Given the description of an element on the screen output the (x, y) to click on. 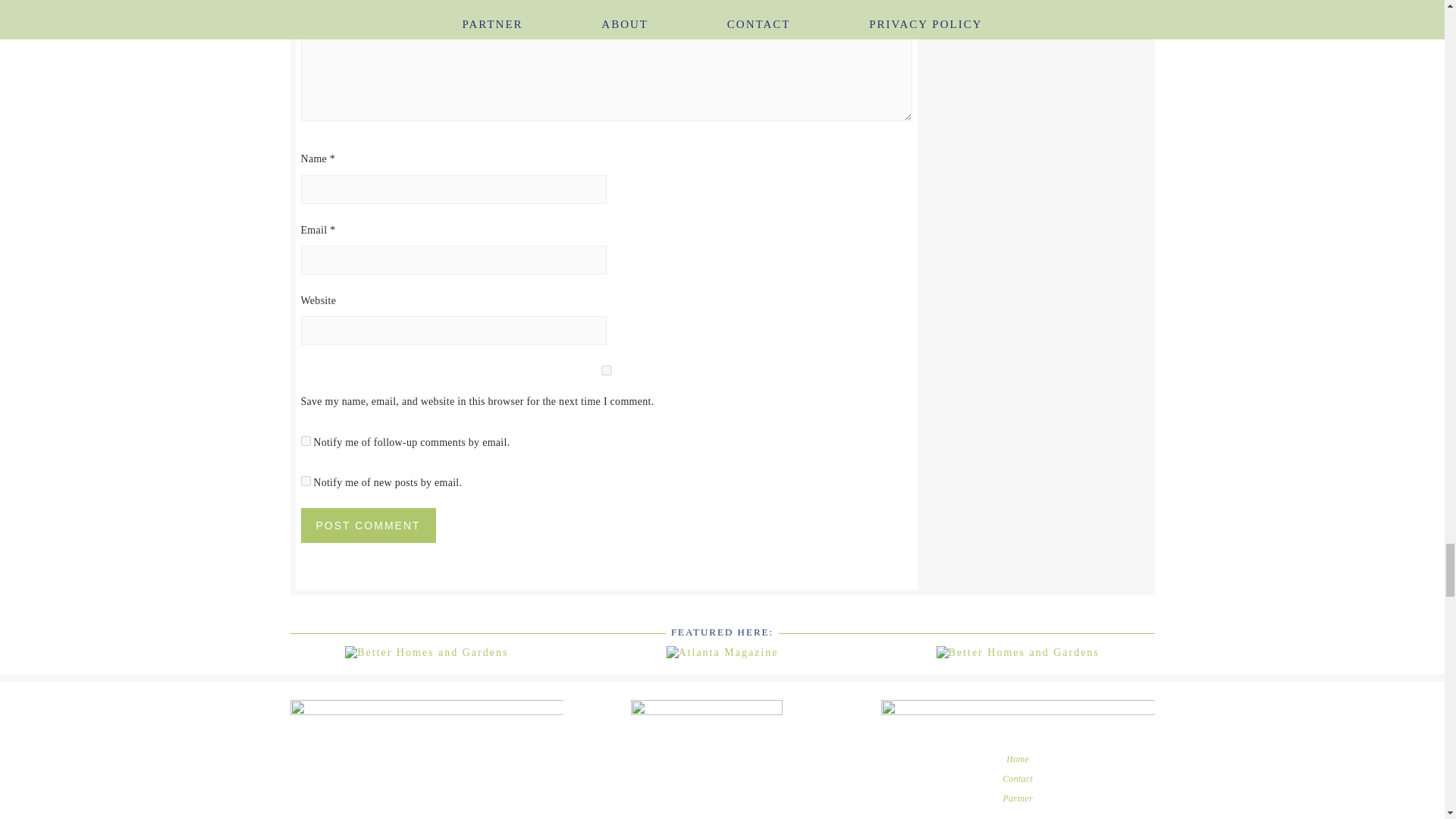
yes (605, 370)
Post Comment (367, 524)
subscribe (304, 480)
subscribe (304, 440)
